Given the description of an element on the screen output the (x, y) to click on. 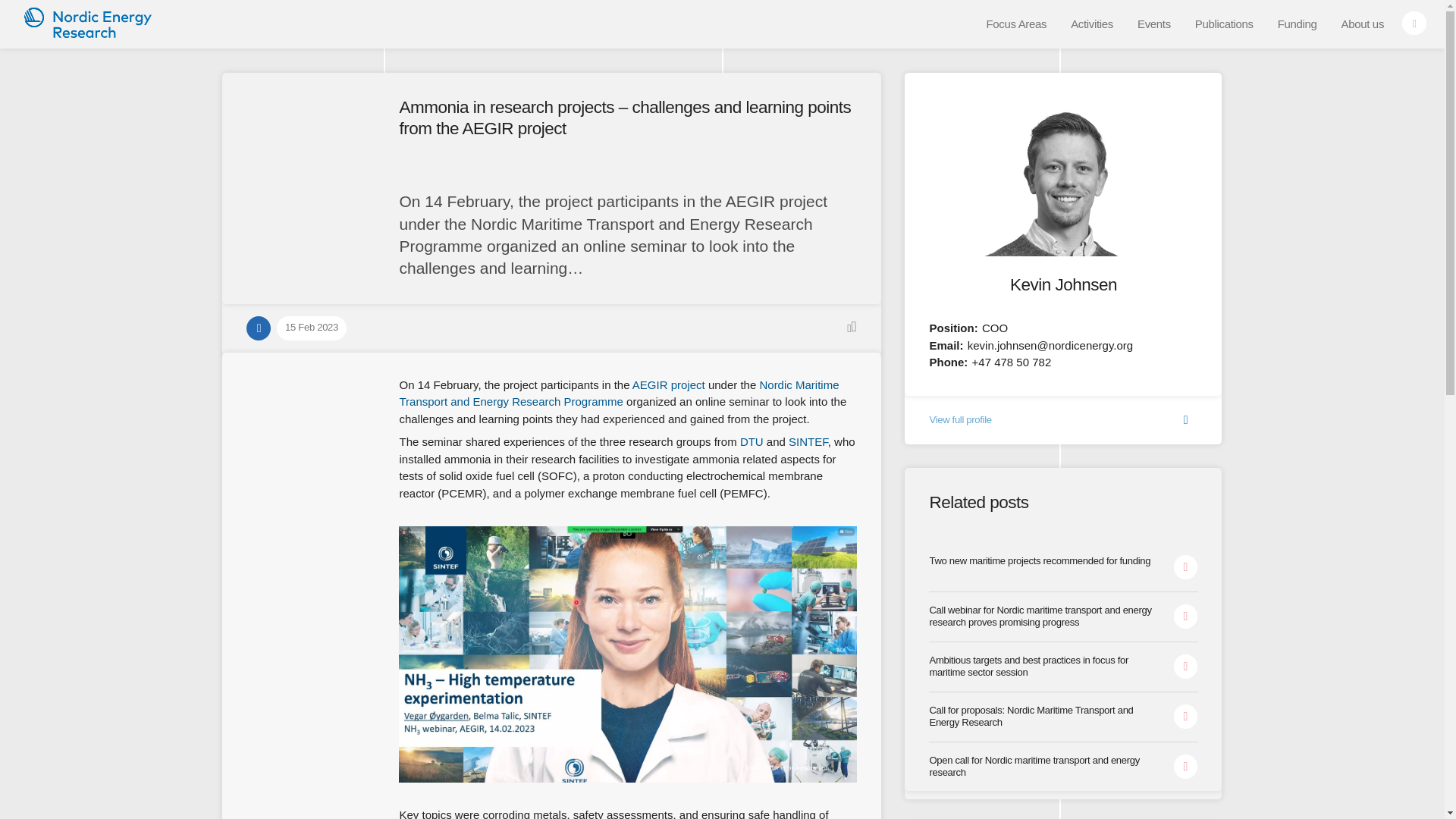
AEGIR project (667, 384)
Two new maritime projects recommended for funding (1062, 566)
Events (1153, 24)
Publications (1223, 24)
Kevin Johnsen (1063, 284)
About us (1362, 24)
Open call for Nordic maritime transport and energy research (1062, 760)
Focus Areas (1016, 24)
Funding (1297, 24)
SINTEF (808, 440)
DTU (750, 440)
View full profile (1062, 417)
